Given the description of an element on the screen output the (x, y) to click on. 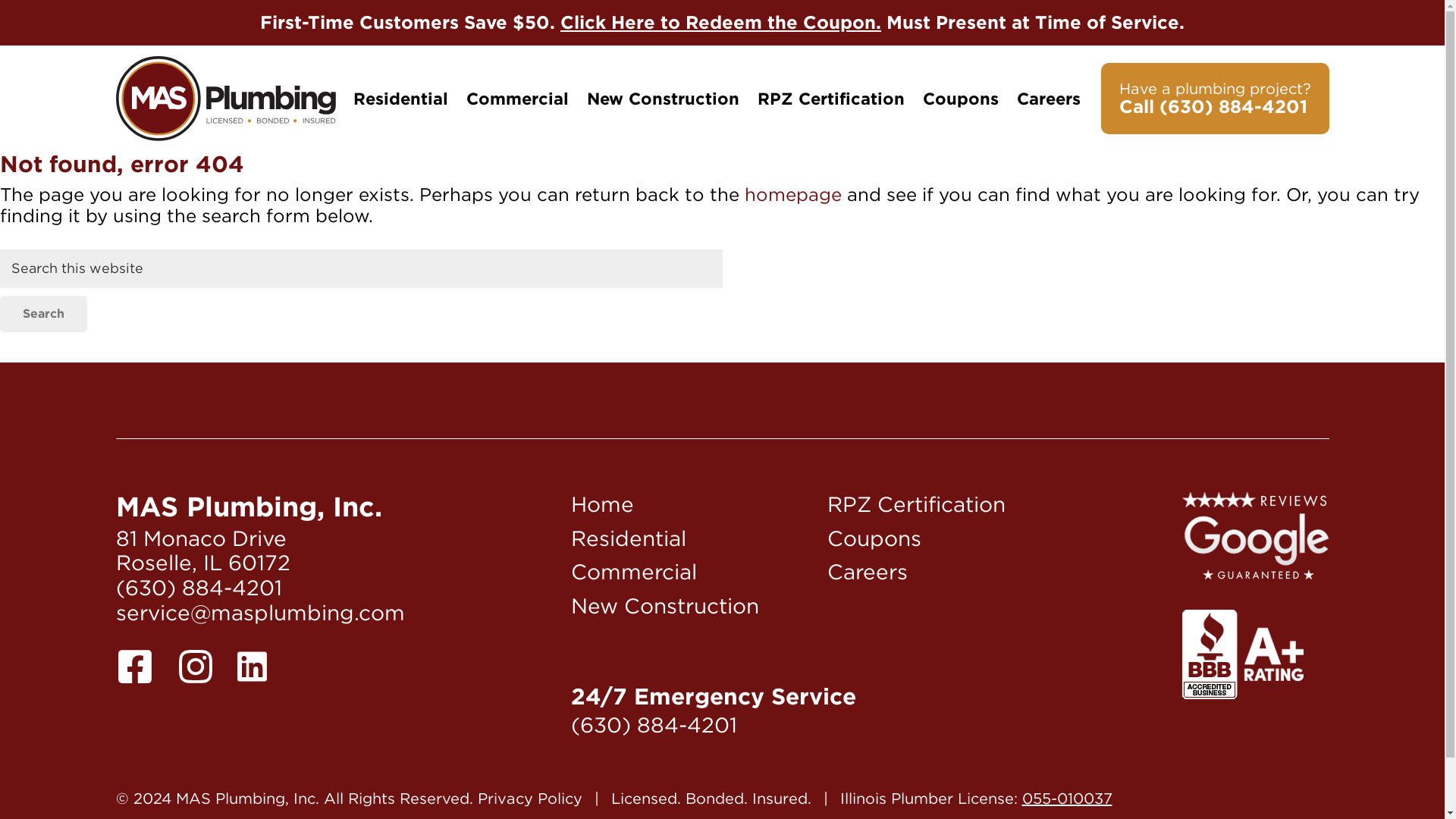
Commercial (516, 98)
RPZ Certification (830, 98)
Commercial (633, 571)
New Construction (663, 98)
Search (43, 313)
homepage (792, 194)
Search (43, 313)
Residential (627, 538)
Residential (400, 98)
New Construction (664, 605)
Click Here to Redeem the Coupon. (720, 22)
Careers (1048, 98)
Careers (867, 571)
Search (43, 313)
